Given the description of an element on the screen output the (x, y) to click on. 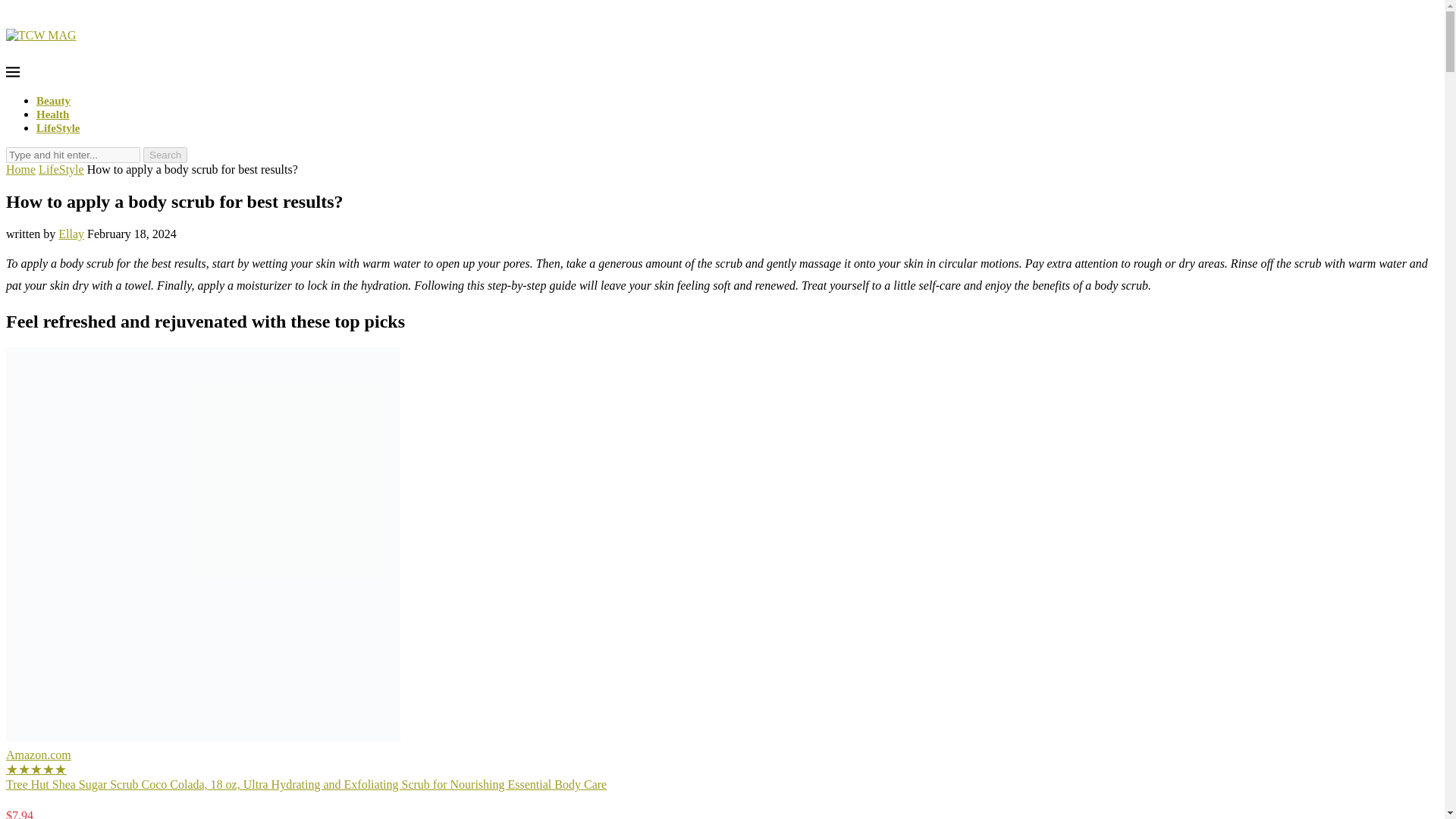
Ellay (71, 233)
Home (19, 169)
LifeStyle (61, 169)
Health (52, 114)
Search (164, 154)
Beauty (52, 101)
LifeStyle (58, 128)
